Given the description of an element on the screen output the (x, y) to click on. 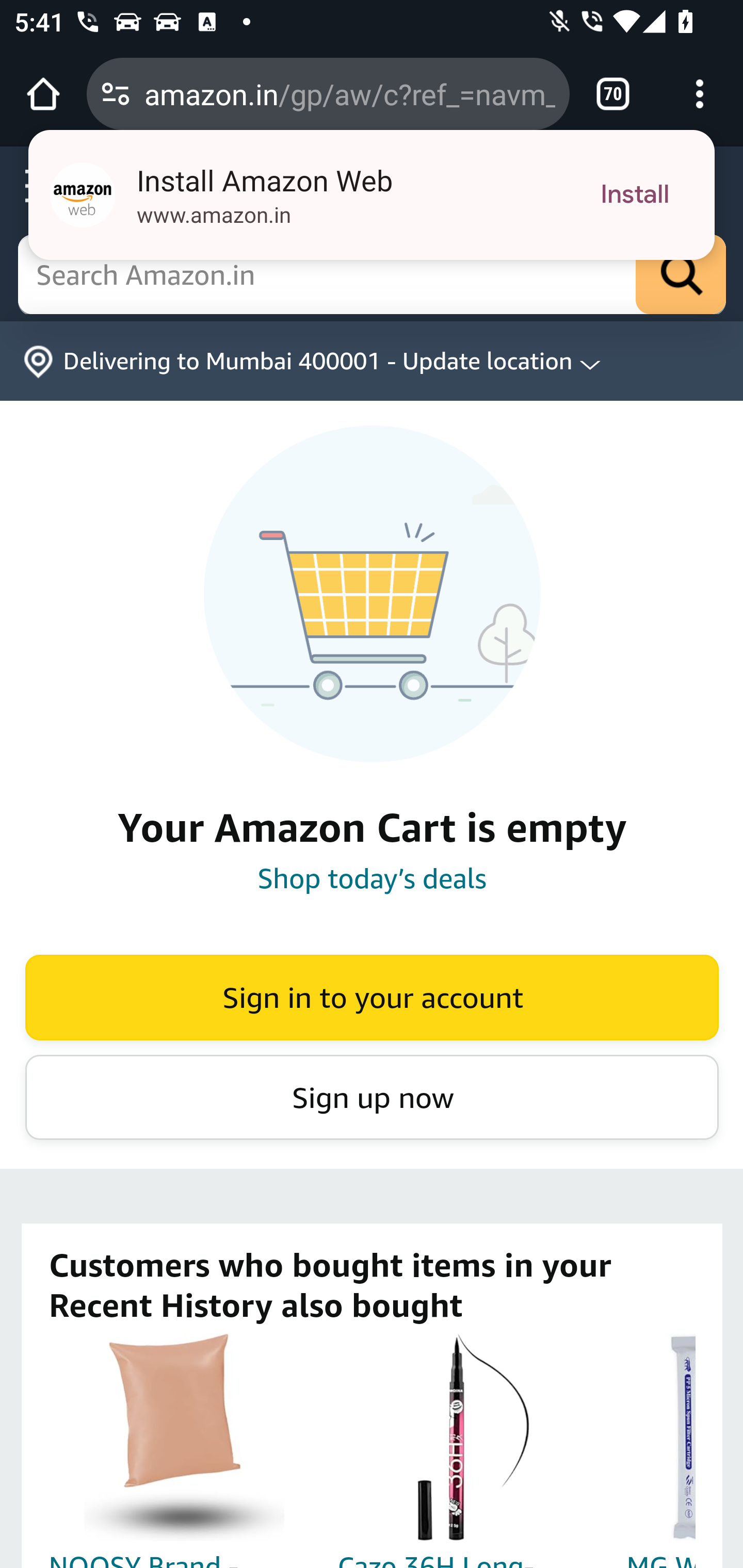
Open the home page (43, 93)
Connection is secure (115, 93)
Switch or close tabs (612, 93)
Customize and control Google Chrome (699, 93)
amazon.in/gp/aw/c?ref_=navm_hdr_cart (349, 92)
Install (634, 195)
Go (681, 275)
Shop today’s deals (371, 877)
Sign in to your account (371, 996)
Sign up now (371, 1095)
Cazo 36H Long-lasting Black Matte Liquid Eyeliner (472, 1436)
